Given the description of an element on the screen output the (x, y) to click on. 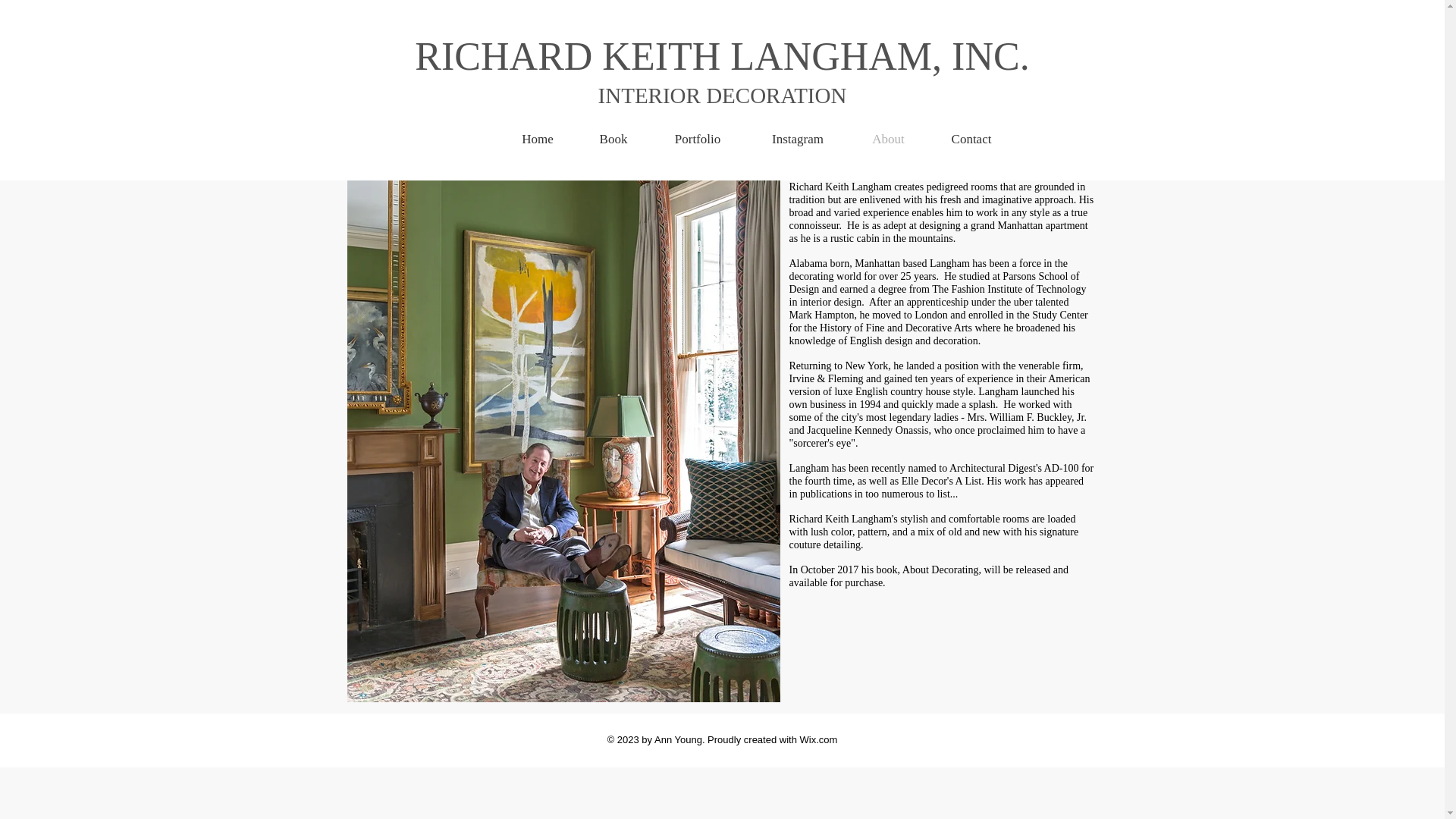
RICHARD KEITH LANGHAM, INC. (721, 56)
Contact (970, 138)
Instagram (797, 138)
Wix.com (818, 739)
Portfolio (697, 138)
Home (536, 138)
About (887, 138)
Book (613, 138)
